Given the description of an element on the screen output the (x, y) to click on. 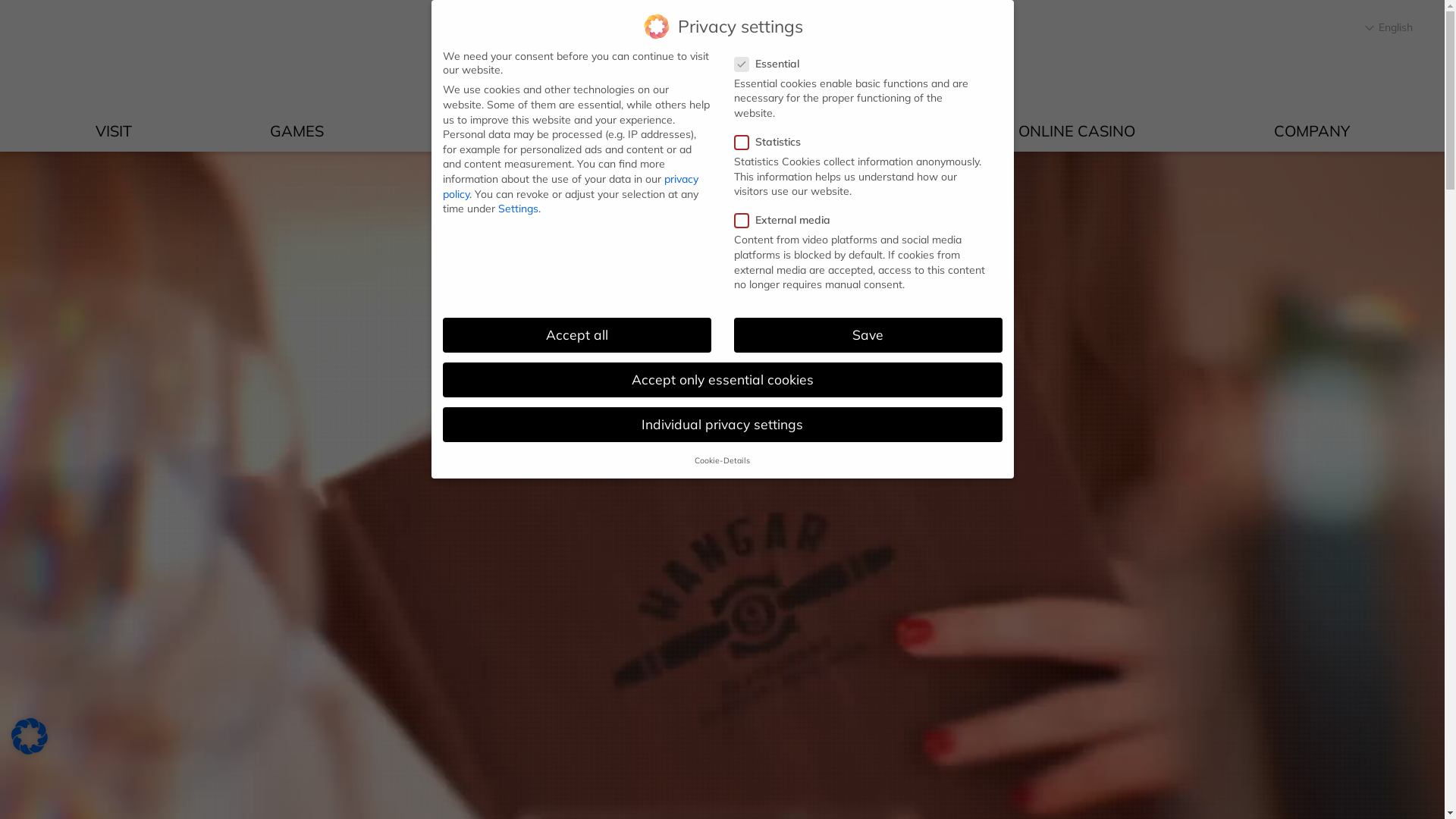
COMPANY Element type: text (1311, 131)
Settings Element type: text (517, 208)
EVENTS Element type: text (491, 131)
Cookie-Details Element type: text (721, 460)
privacy policy Element type: text (570, 186)
ONLINE CASINO Element type: text (1076, 131)
Skip to content Element type: text (0, 151)
Save Element type: text (868, 334)
SHOP Element type: text (859, 131)
BLOG Element type: text (678, 131)
Accept only essential cookies Element type: text (722, 379)
Individual privacy settings Element type: text (722, 424)
GAMES Element type: text (296, 131)
VISIT Element type: text (113, 131)
GRAND CASINO BASEL Element type: hover (721, 60)
Accept all Element type: text (576, 334)
Open Cookie Preferences Element type: hover (29, 749)
